Given the description of an element on the screen output the (x, y) to click on. 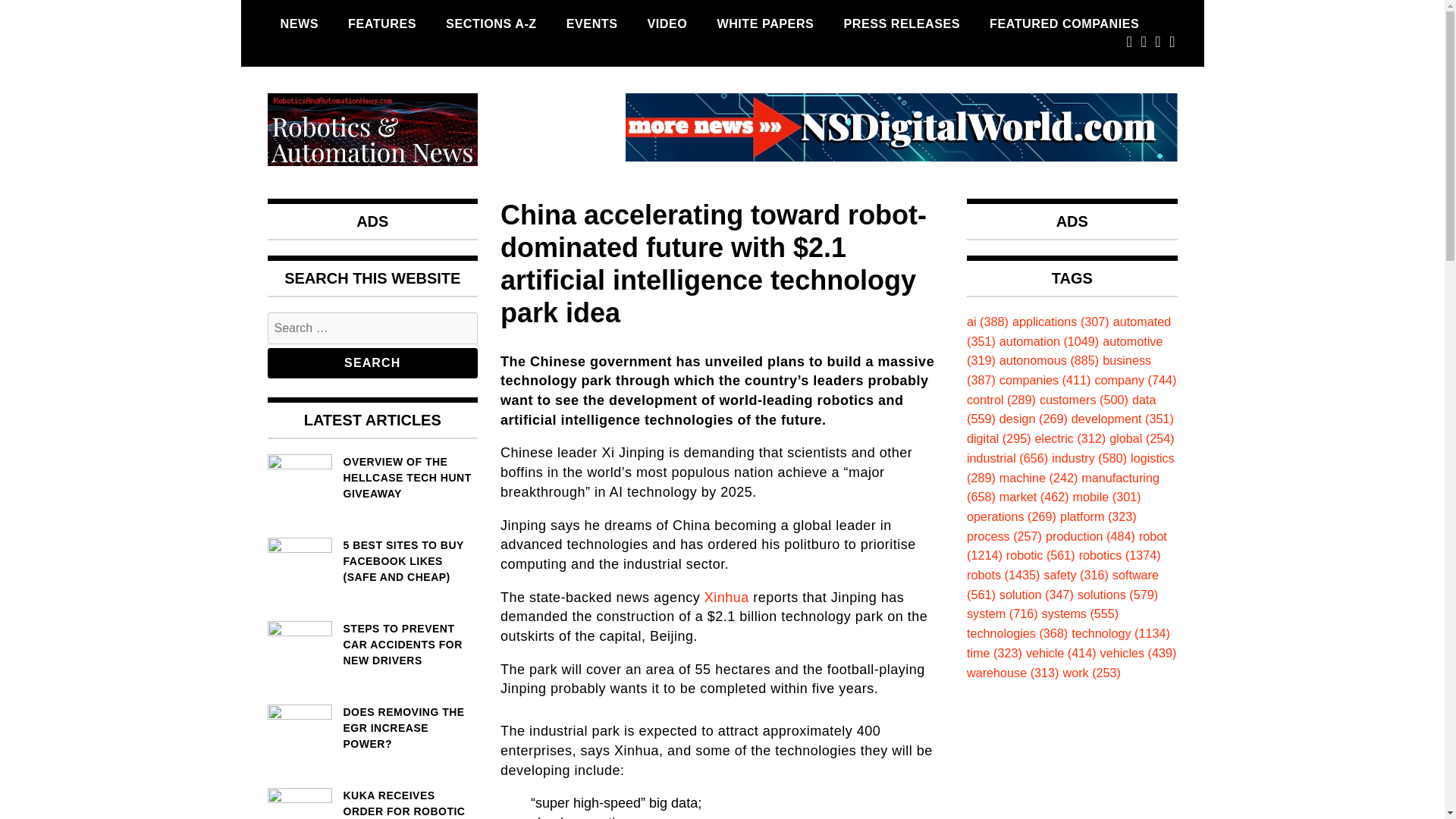
SECTIONS A-Z (490, 23)
NEWS (298, 23)
Search (371, 363)
Search (371, 363)
FEATURES (382, 23)
